Given the description of an element on the screen output the (x, y) to click on. 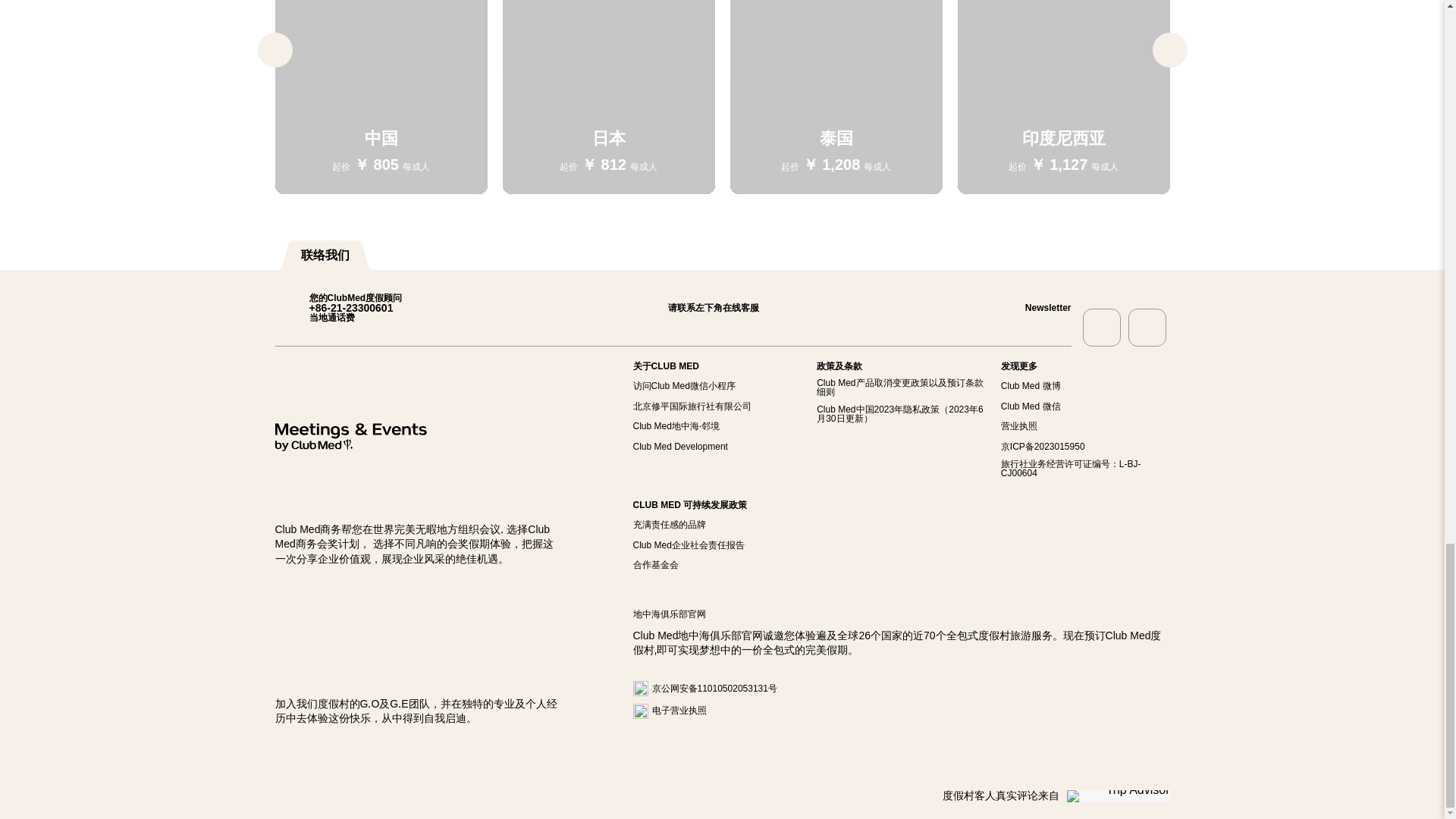
Newsletter (1031, 307)
